Given the description of an element on the screen output the (x, y) to click on. 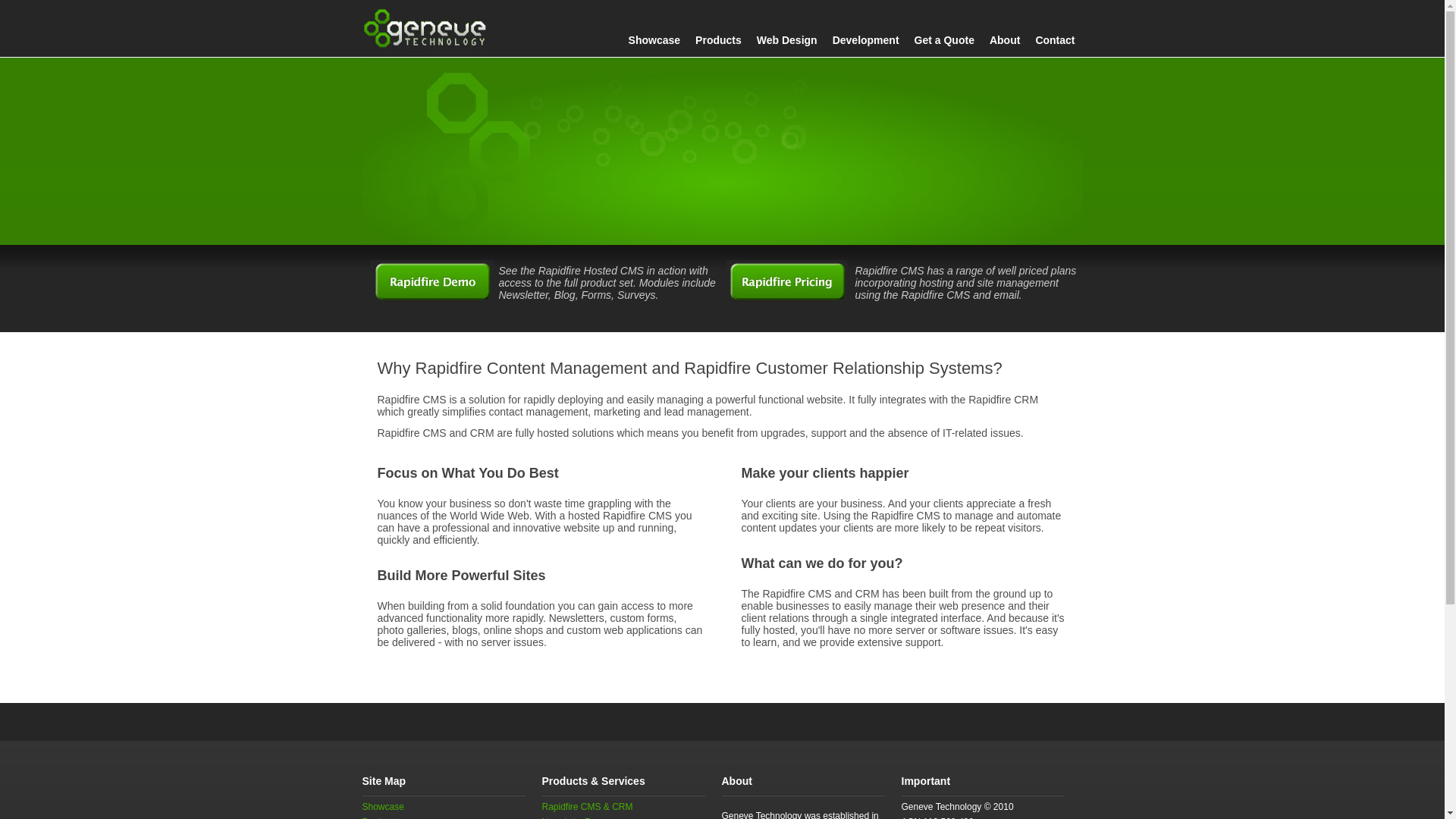
Rapidfire Pricing Button Element type: hover (786, 280)
Get a Quote Element type: text (944, 40)
Contact Element type: text (1054, 40)
Rapidfire Request Demo Button Element type: hover (431, 280)
Development Element type: text (865, 40)
Web Design Element type: text (787, 40)
Showcase Element type: text (654, 40)
Showcase Element type: text (383, 806)
Rapidfire CMS & CRM Element type: text (586, 806)
About Element type: text (1004, 40)
Products Element type: text (718, 40)
